Given the description of an element on the screen output the (x, y) to click on. 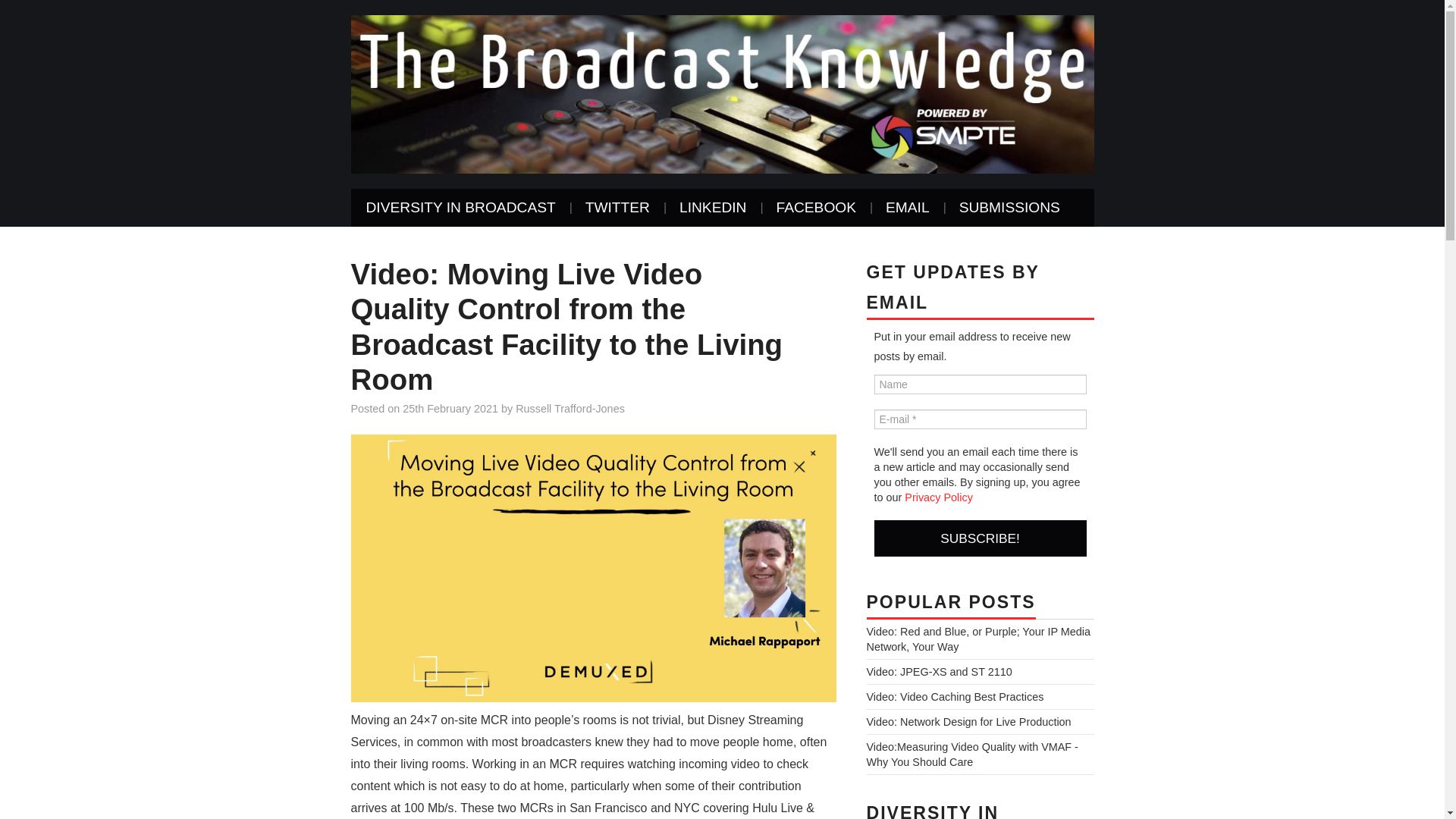
Video: Video Caching Best Practices (954, 696)
E-mail (979, 419)
View all posts by Russell Trafford-Jones (569, 408)
Subscribe! (979, 538)
Russell Trafford-Jones (569, 408)
Video: Network Design for Live Production (968, 721)
Name (979, 383)
LINKEDIN (712, 207)
Privacy Policy (938, 497)
FACEBOOK (815, 207)
SUBMISSIONS (1009, 207)
The Broadcast Knowledge (721, 92)
25th February 2021 (450, 408)
TWITTER (617, 207)
Subscribe! (979, 538)
